Given the description of an element on the screen output the (x, y) to click on. 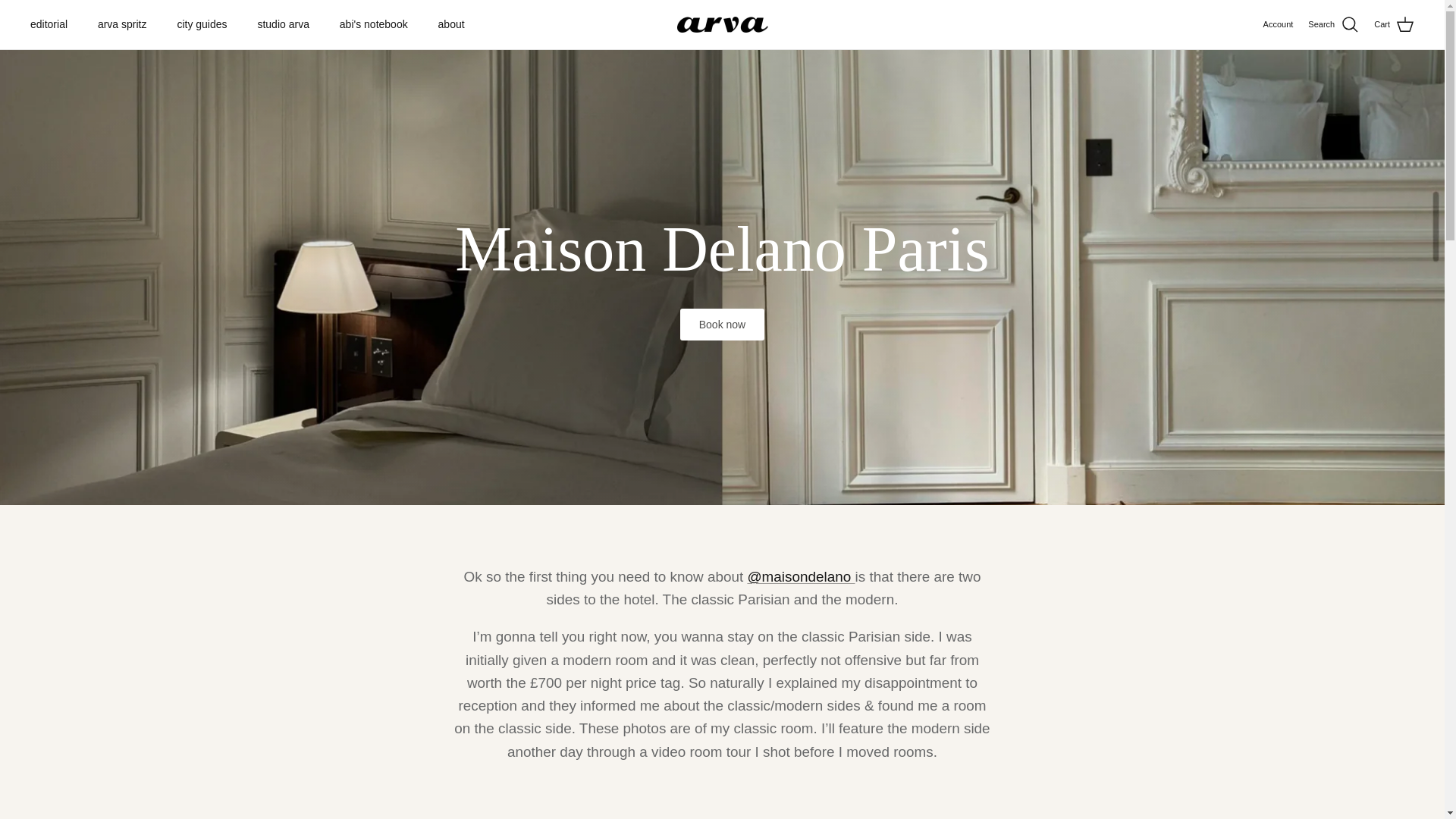
studio arva (282, 24)
Search (1332, 25)
Cart (1393, 25)
Account (1278, 24)
about (452, 24)
studio arva (722, 24)
arva spritz (122, 24)
city guides (201, 24)
abi's notebook (374, 24)
editorial (48, 24)
